Given the description of an element on the screen output the (x, y) to click on. 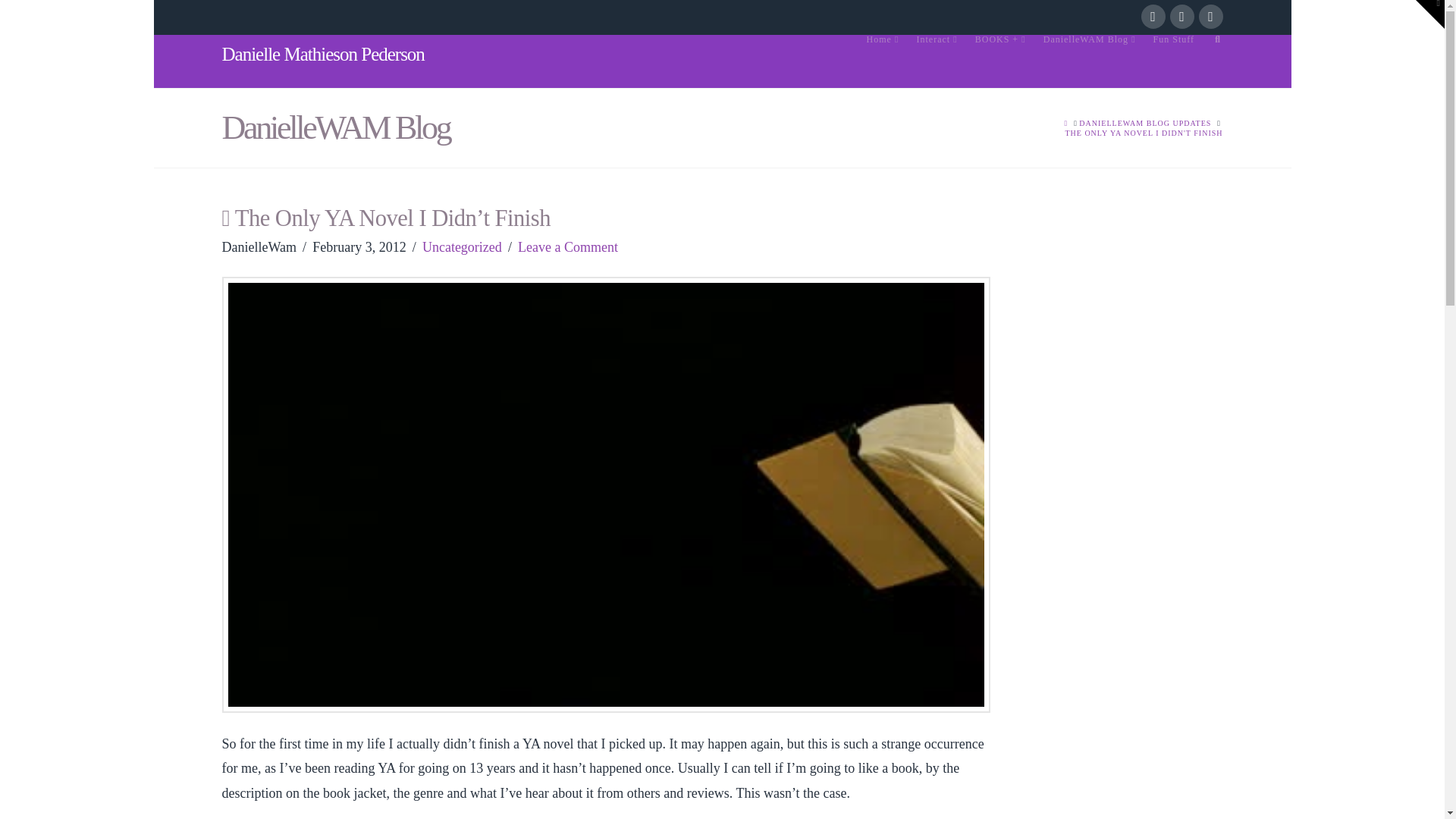
DANIELLEWAM BLOG UPDATES (1144, 122)
Instagram (1210, 16)
HOME (1066, 122)
Uncategorized (462, 246)
Leave a Comment (567, 246)
Danielle Mathieson Pederson (322, 54)
You Are Here (1143, 132)
Home (882, 61)
THE ONLY YA NOVEL I DIDN'T FINISH (1143, 132)
DanielleWAM Blog (1088, 61)
Facebook (1152, 16)
Fun Stuff (1173, 61)
LinkedIn (1181, 16)
Interact (936, 61)
